Given the description of an element on the screen output the (x, y) to click on. 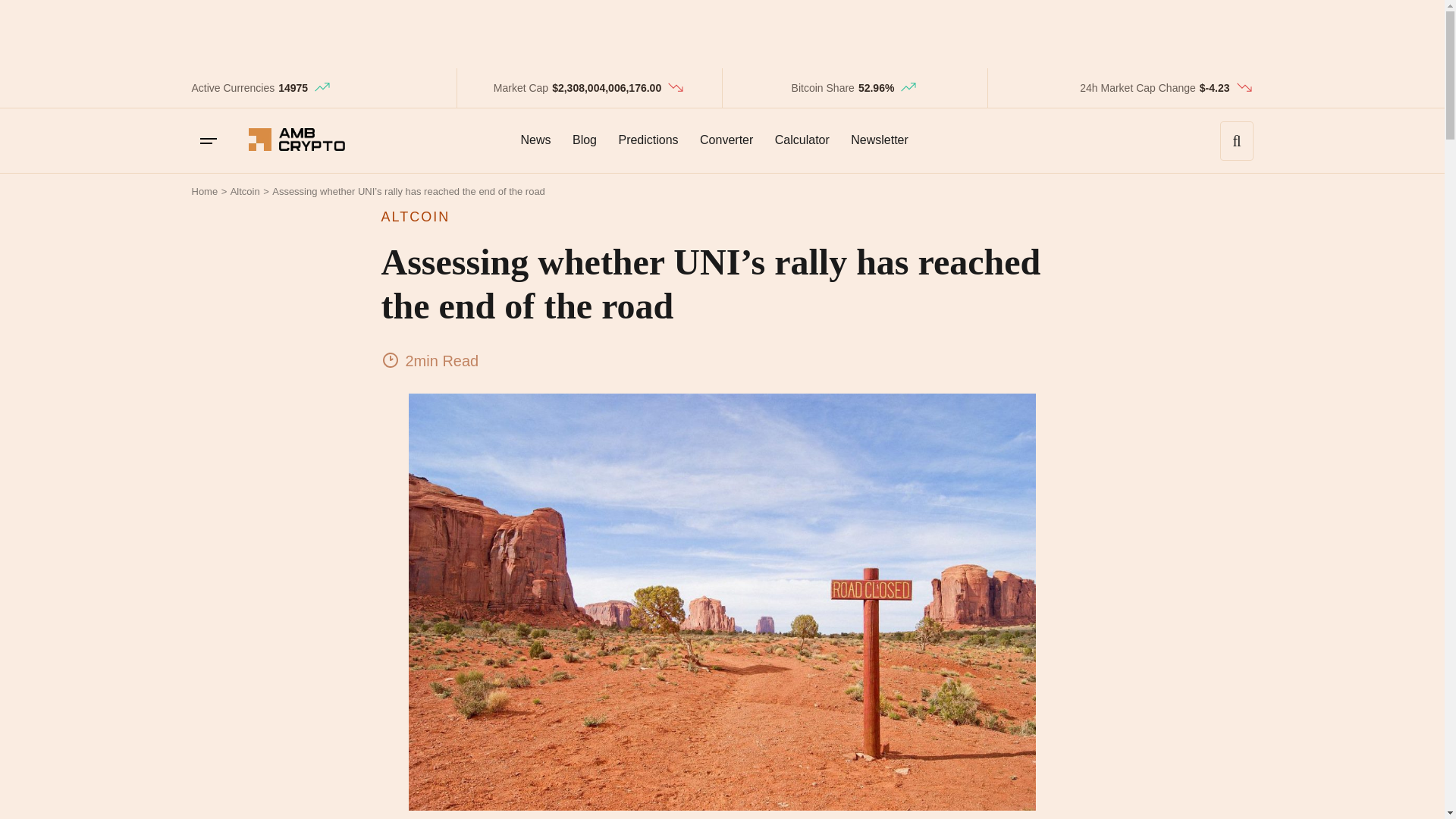
Converter (725, 139)
Home (203, 191)
Predictions (647, 139)
Newsletter (879, 139)
ALTCOIN (721, 216)
News (535, 139)
Calculator (801, 139)
Blog (584, 139)
Altcoin (245, 191)
Altcoin (245, 191)
Home (203, 191)
